Given the description of an element on the screen output the (x, y) to click on. 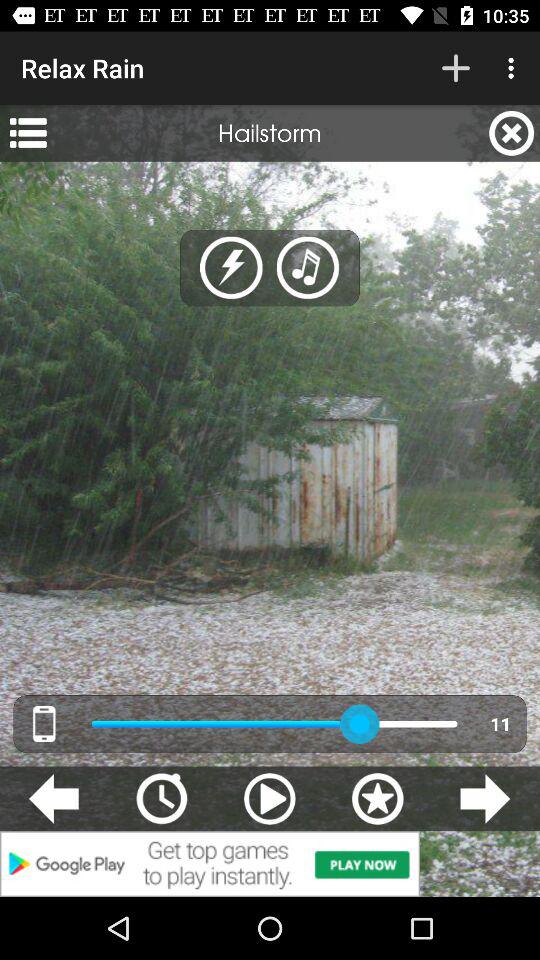
click the app next to hailstorm app (28, 133)
